Given the description of an element on the screen output the (x, y) to click on. 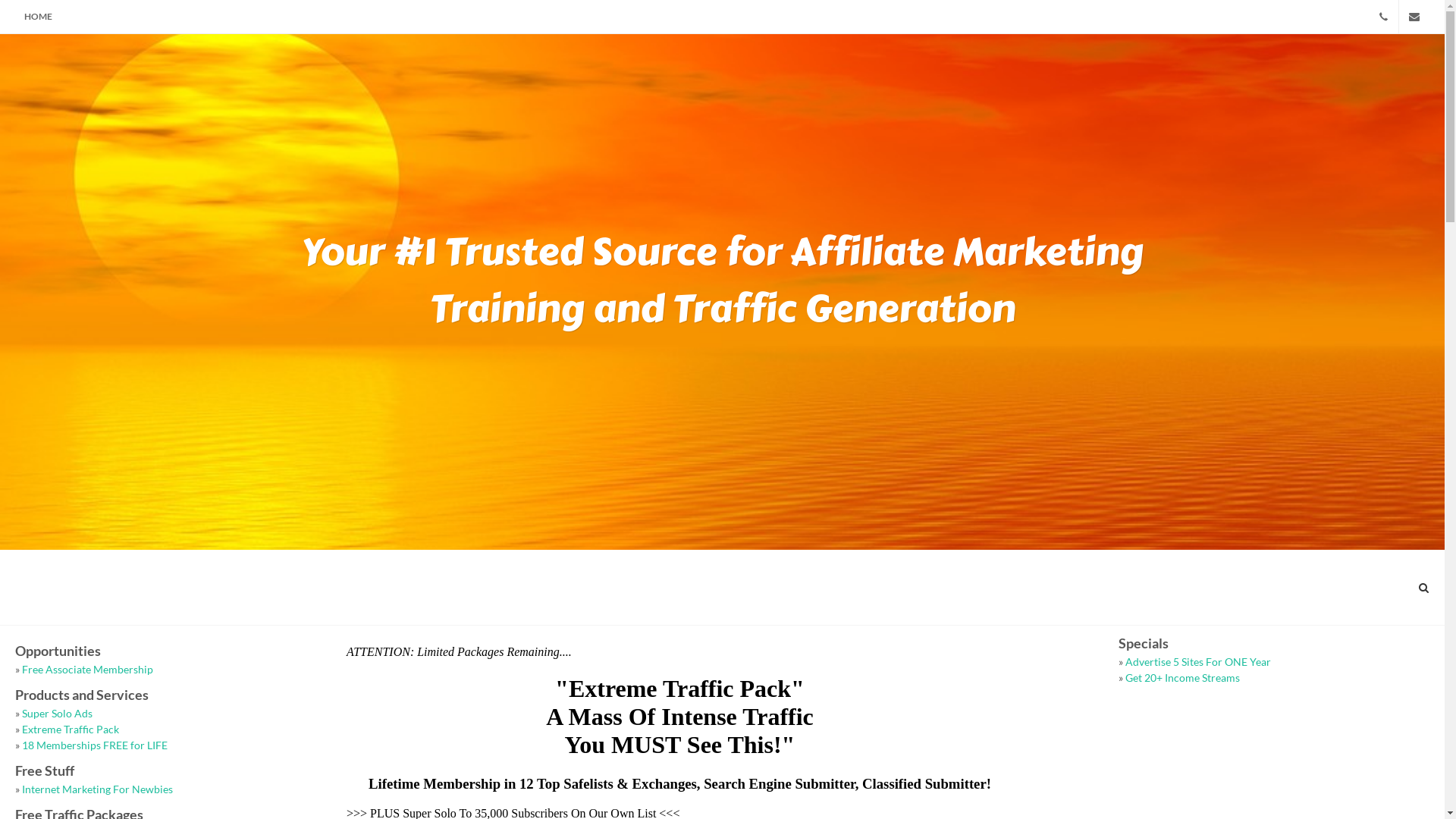
Advertise 5 Sites For ONE Year Element type: text (1197, 661)
Internet Marketing For Newbies Element type: text (96, 788)
18 Memberships FREE for LIFE Element type: text (94, 744)
Get 20+ Income Streams Element type: text (1182, 677)
Extreme Traffic Pack Element type: text (70, 728)
HOME Element type: text (38, 16)
Free Associate Membership Element type: text (87, 668)
Super Solo Ads Element type: text (56, 712)
